Given the description of an element on the screen output the (x, y) to click on. 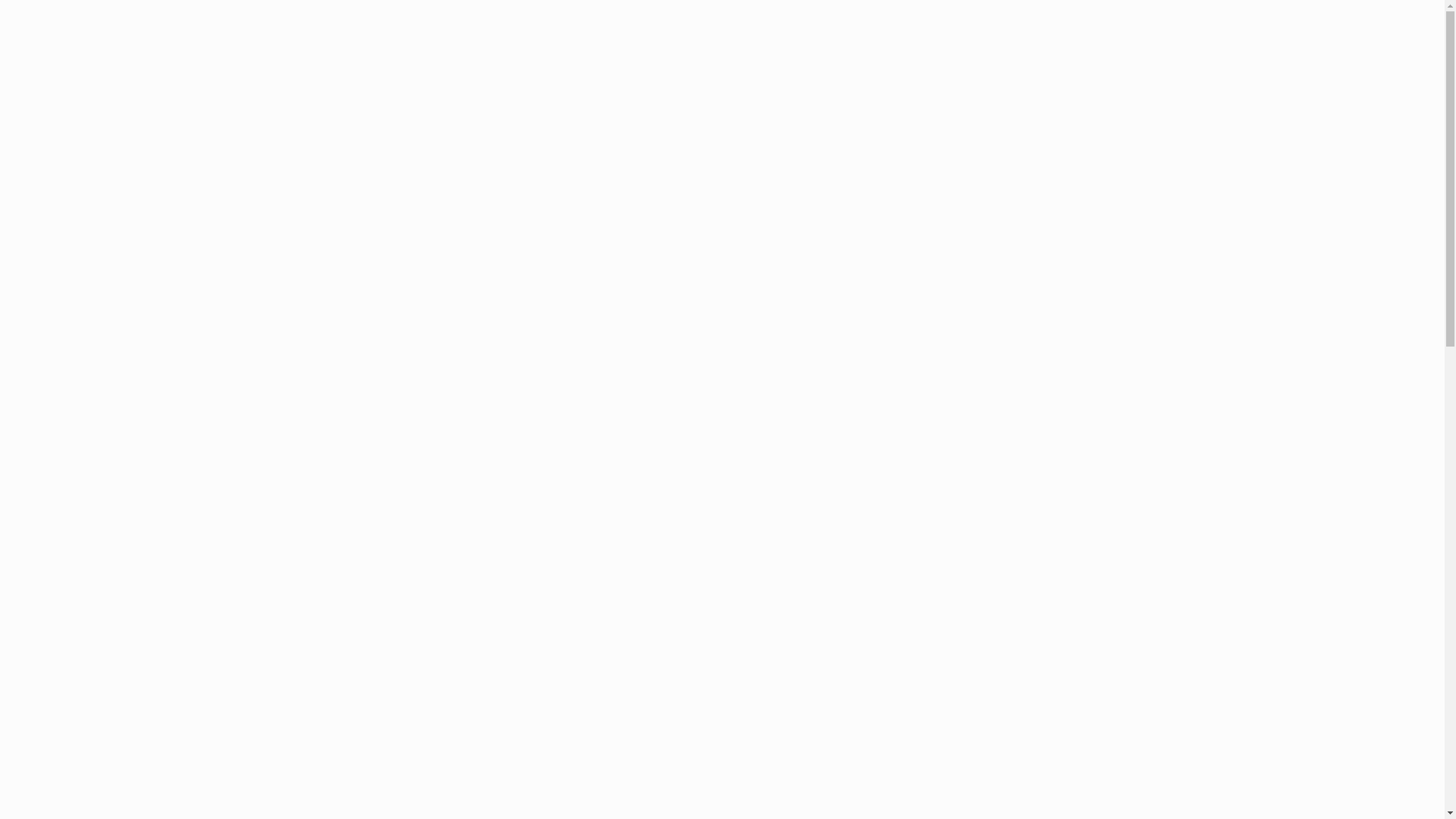
Boutique de lutte Element type: text (1026, 45)
Acteur.ice.s Element type: text (886, 45)
Blog Element type: text (715, 45)
Le Dk Element type: text (950, 45)
Pays dans le Pays Element type: text (792, 45)
Contacts Element type: text (1110, 45)
Accueil Element type: text (665, 45)
